Given the description of an element on the screen output the (x, y) to click on. 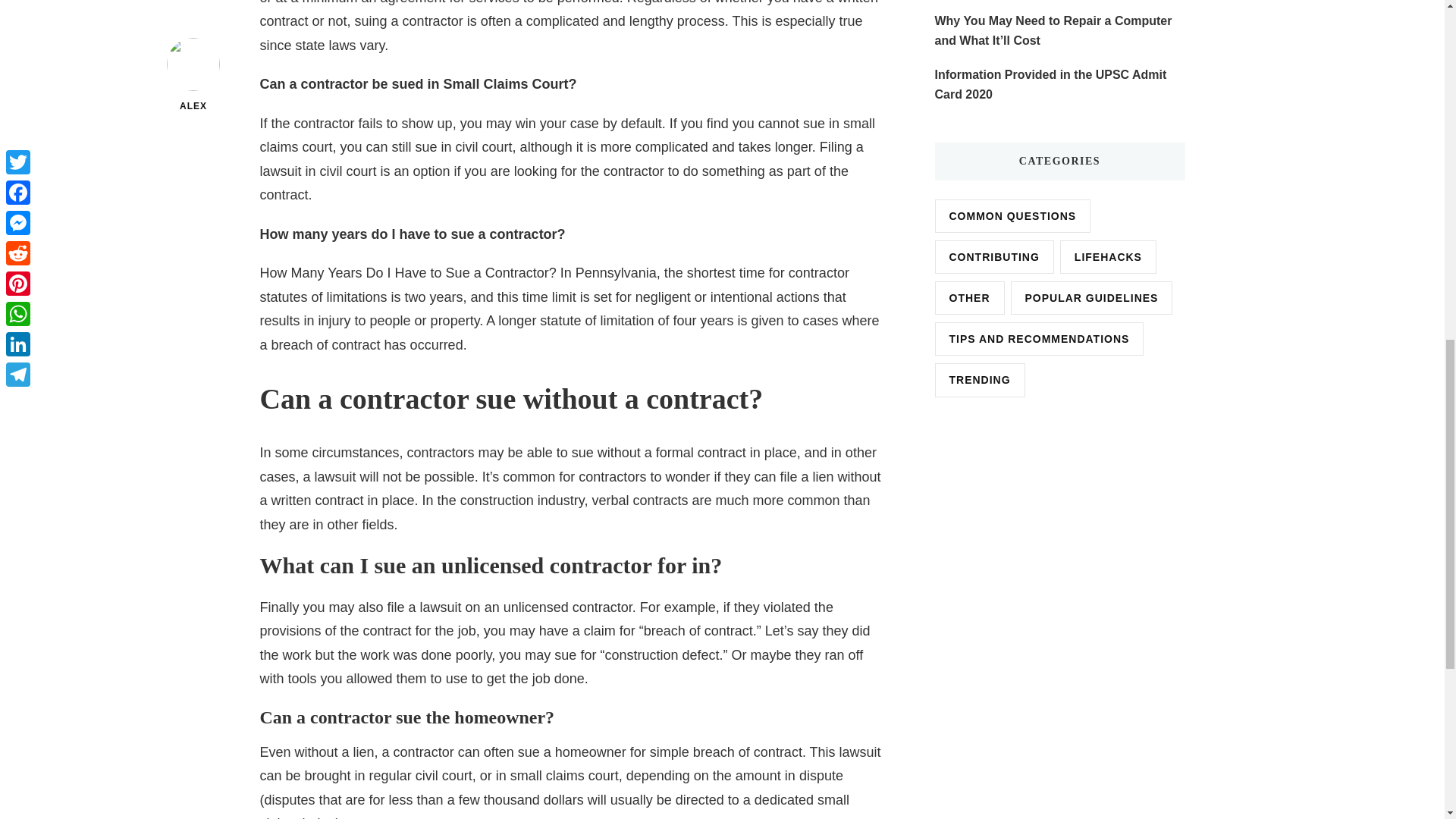
COMMON QUESTIONS (1012, 215)
OTHER (969, 297)
LIFEHACKS (1107, 256)
Information Provided in the UPSC Admit Card 2020 (1059, 84)
CONTRIBUTING (993, 256)
